Given the description of an element on the screen output the (x, y) to click on. 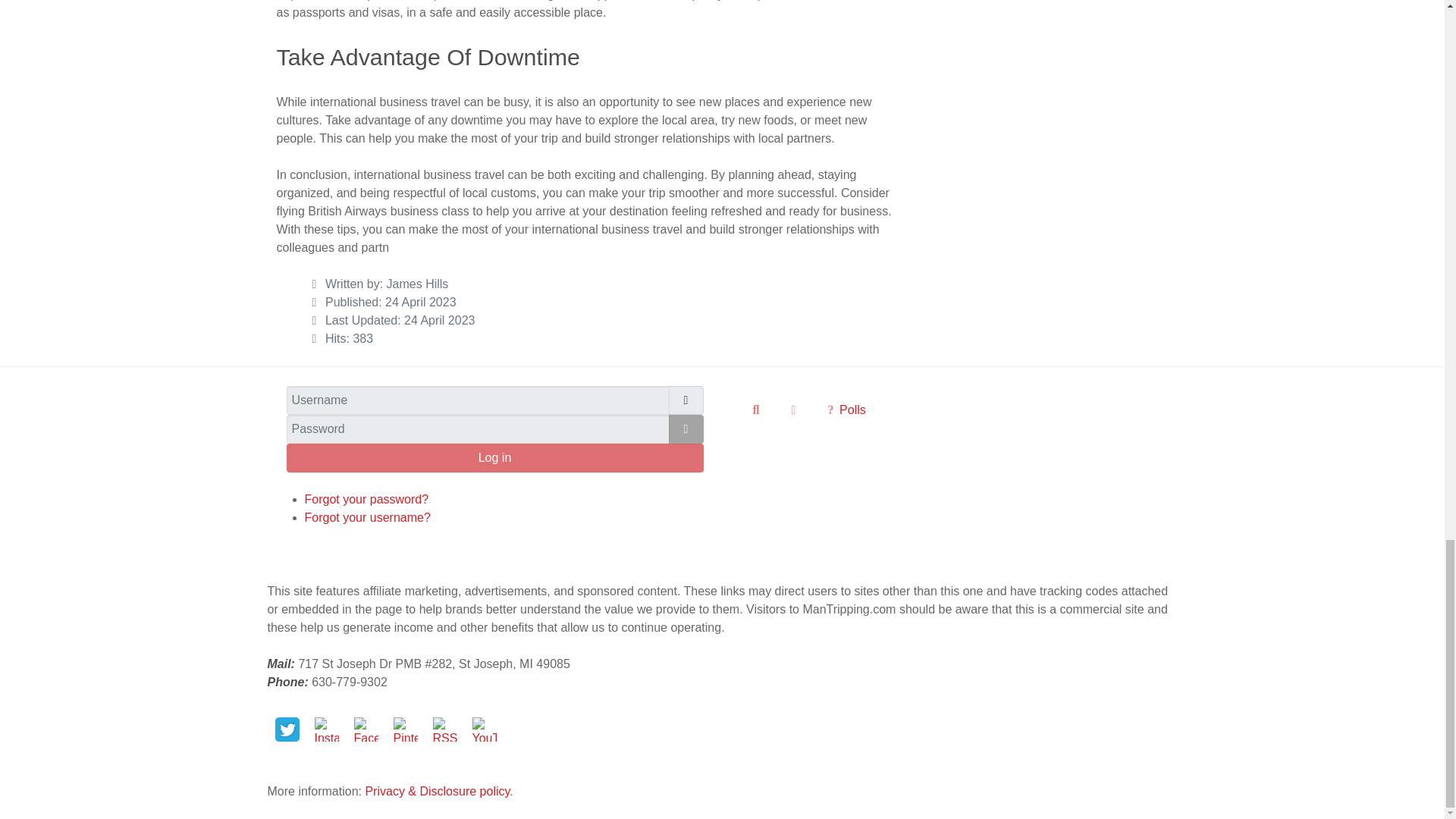
Forgot your password? (366, 499)
Username (685, 399)
Forgot your username? (367, 517)
Polls (845, 409)
Log in (494, 457)
Polls (845, 409)
Show Password (685, 428)
